Given the description of an element on the screen output the (x, y) to click on. 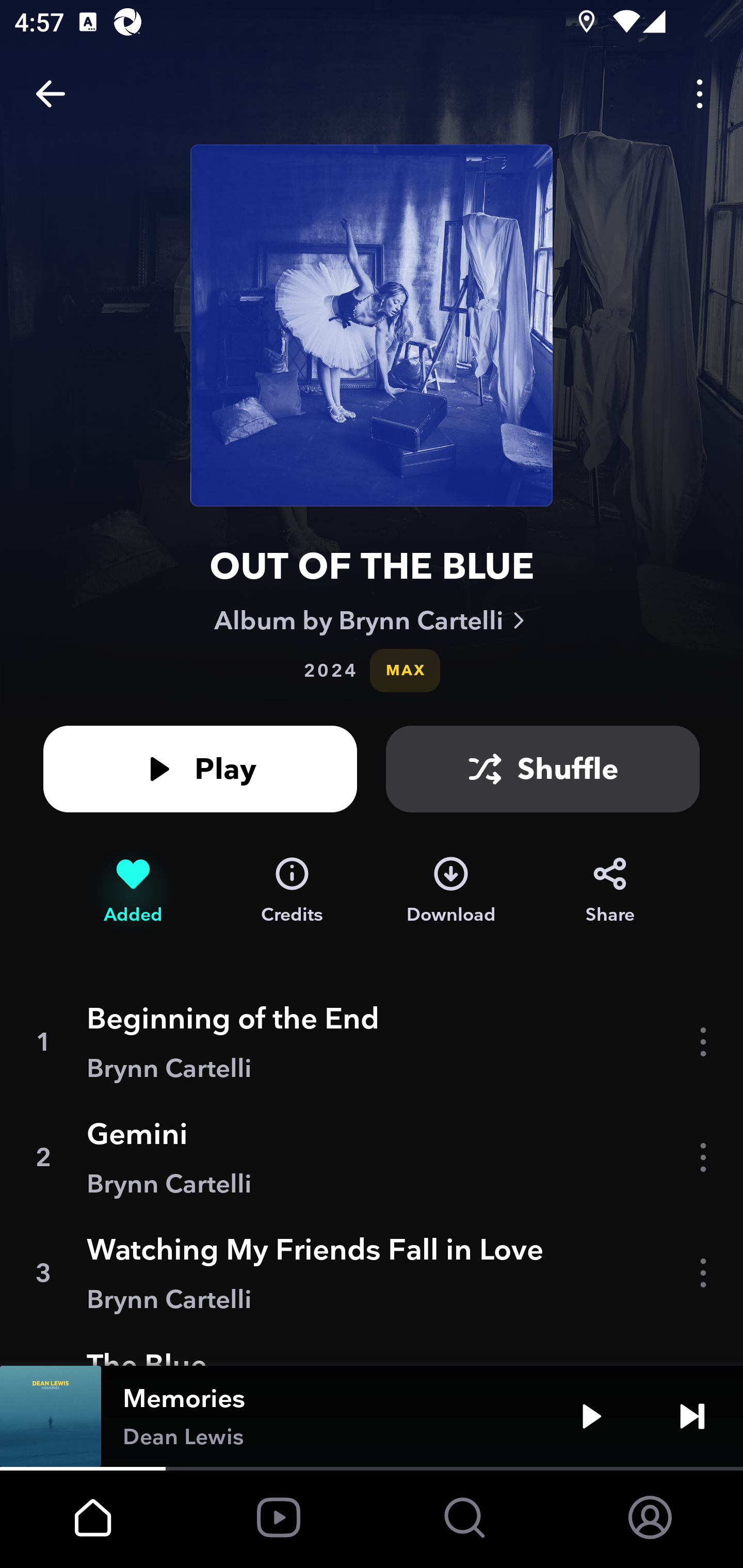
Options (699, 93)
OUT OF THE BLUE (371, 565)
Album by Brynn Cartelli (371, 619)
Play (200, 768)
Shuffle (542, 768)
Remove from My Collection Added (132, 890)
Credits (291, 890)
Download (450, 890)
Share (609, 890)
1 Beginning of the End Brynn Cartelli (371, 1041)
2 Gemini Brynn Cartelli (371, 1157)
3 Watching My Friends Fall in Love Brynn Cartelli (371, 1273)
Memories Dean Lewis Play (371, 1416)
Play (590, 1416)
